Given the description of an element on the screen output the (x, y) to click on. 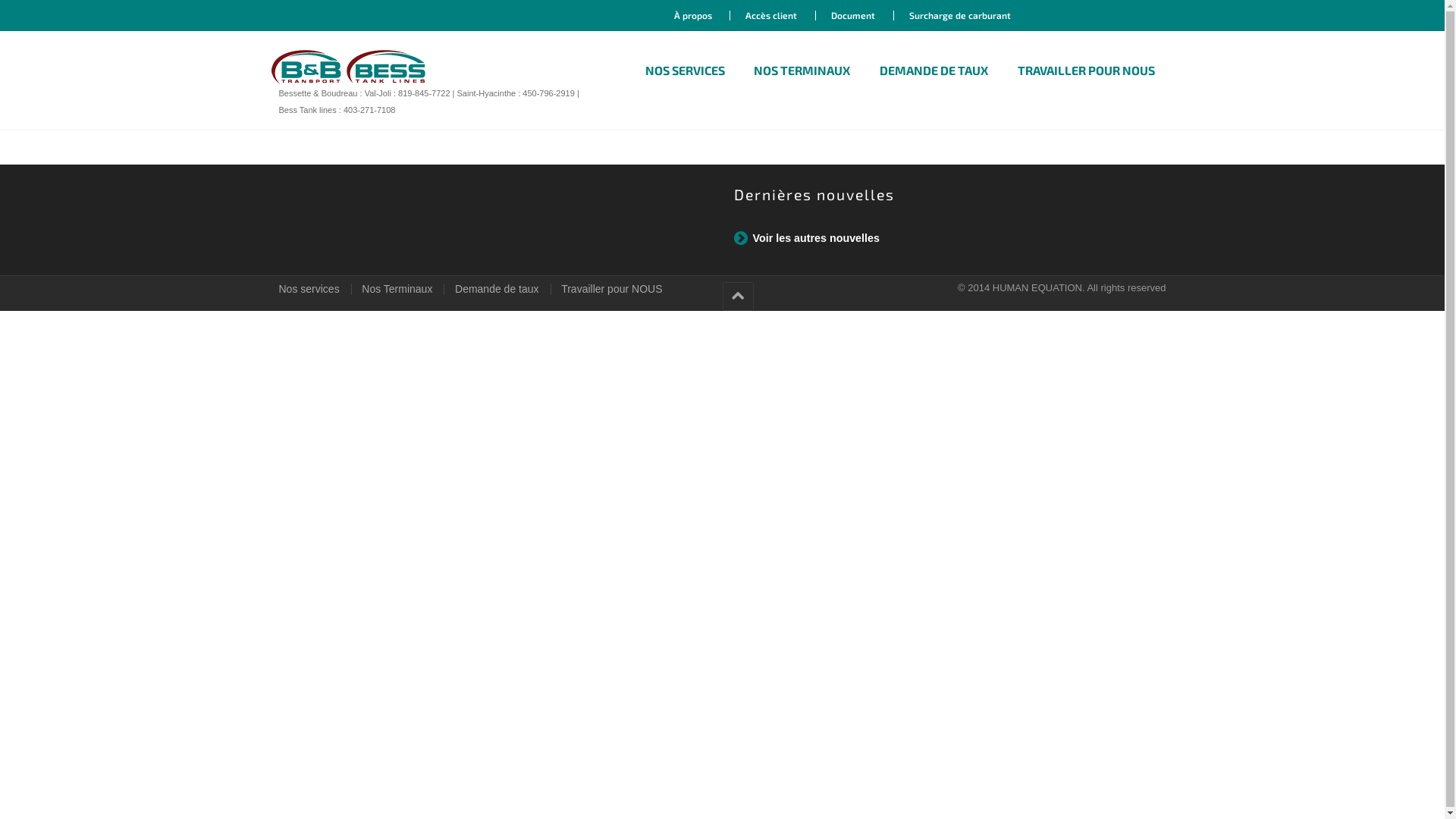
NOS SERVICES Element type: text (684, 70)
Surcharge de carburant Element type: text (959, 15)
Travailler pour NOUS Element type: text (611, 288)
Document Element type: text (852, 15)
Nos Terminaux Element type: text (396, 288)
NOS TERMINAUX Element type: text (801, 70)
Nos services Element type: text (309, 288)
TRAVAILLER POUR NOUS Element type: text (1086, 70)
Demande de taux Element type: text (497, 288)
DEMANDE DE TAUX Element type: text (933, 70)
Voir les autres nouvelles Element type: text (806, 238)
